Given the description of an element on the screen output the (x, y) to click on. 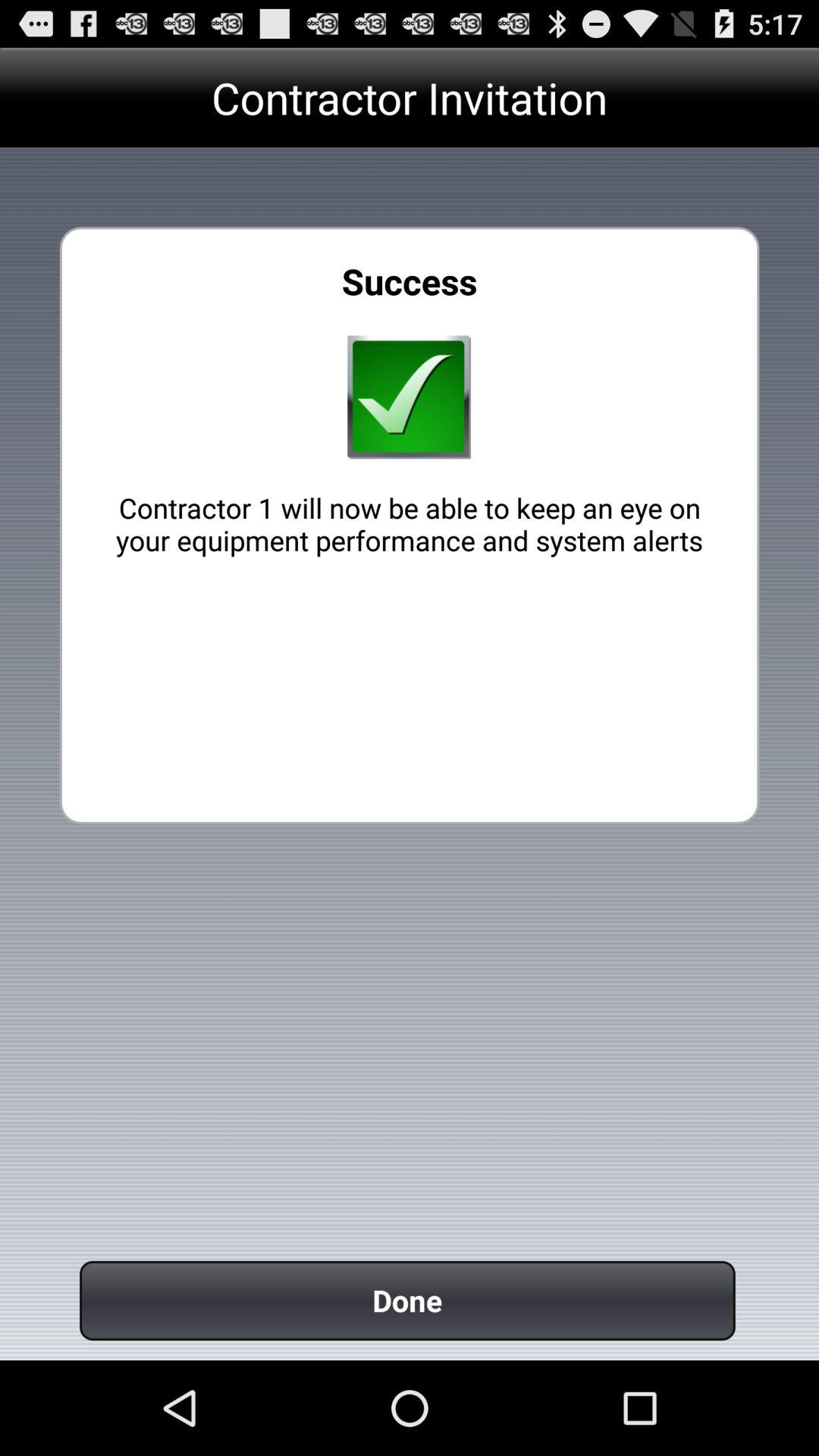
turn off the icon below contractor 1 will icon (407, 1300)
